Given the description of an element on the screen output the (x, y) to click on. 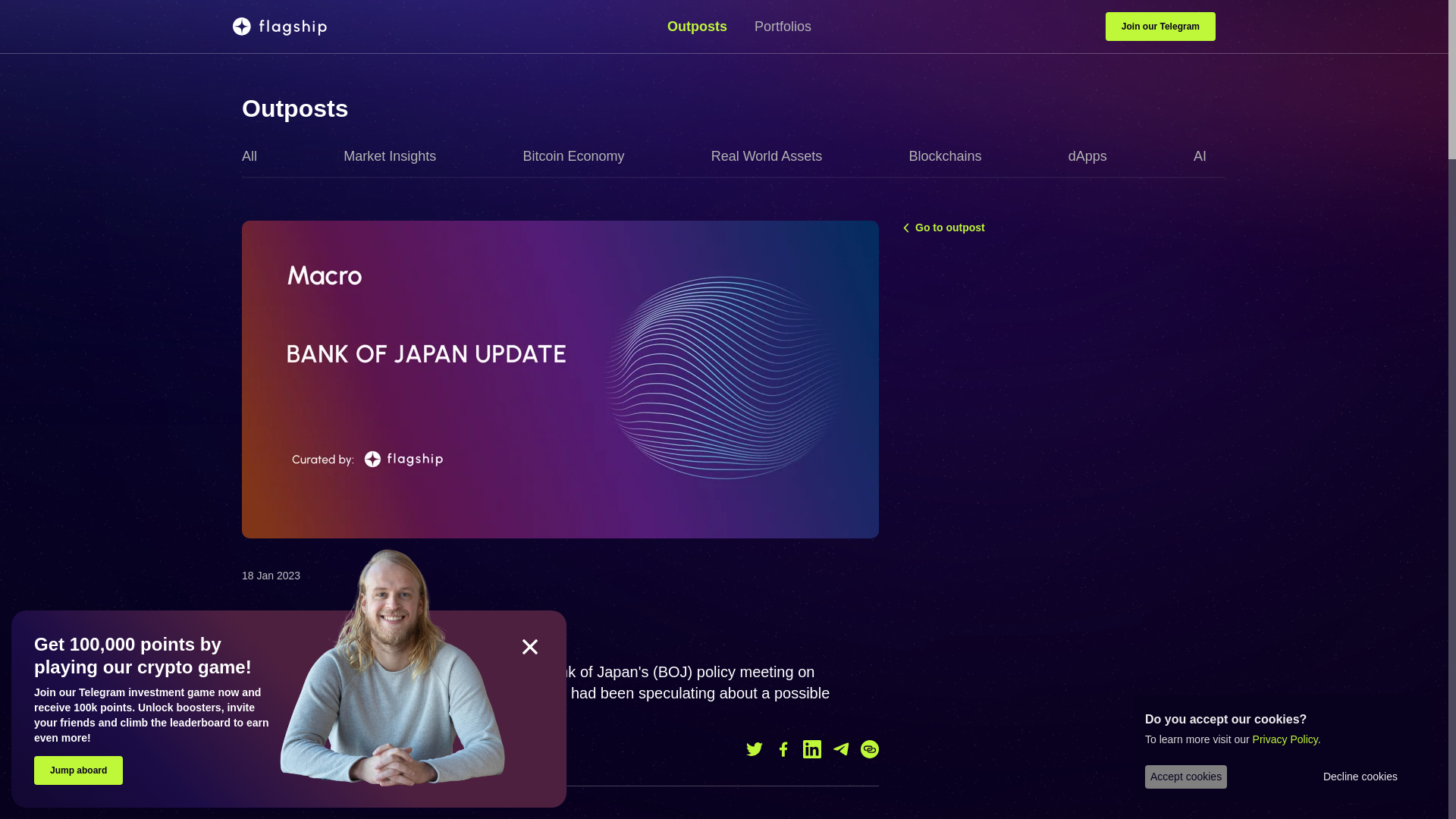
All (255, 155)
Real World Assets (772, 155)
Bitcoin Economy (579, 155)
Portfolios (782, 26)
Blockchains (951, 155)
Outposts (702, 26)
Join our Telegram (1160, 26)
Market Insights (395, 155)
Outposts (294, 108)
dApps (1093, 155)
